Given the description of an element on the screen output the (x, y) to click on. 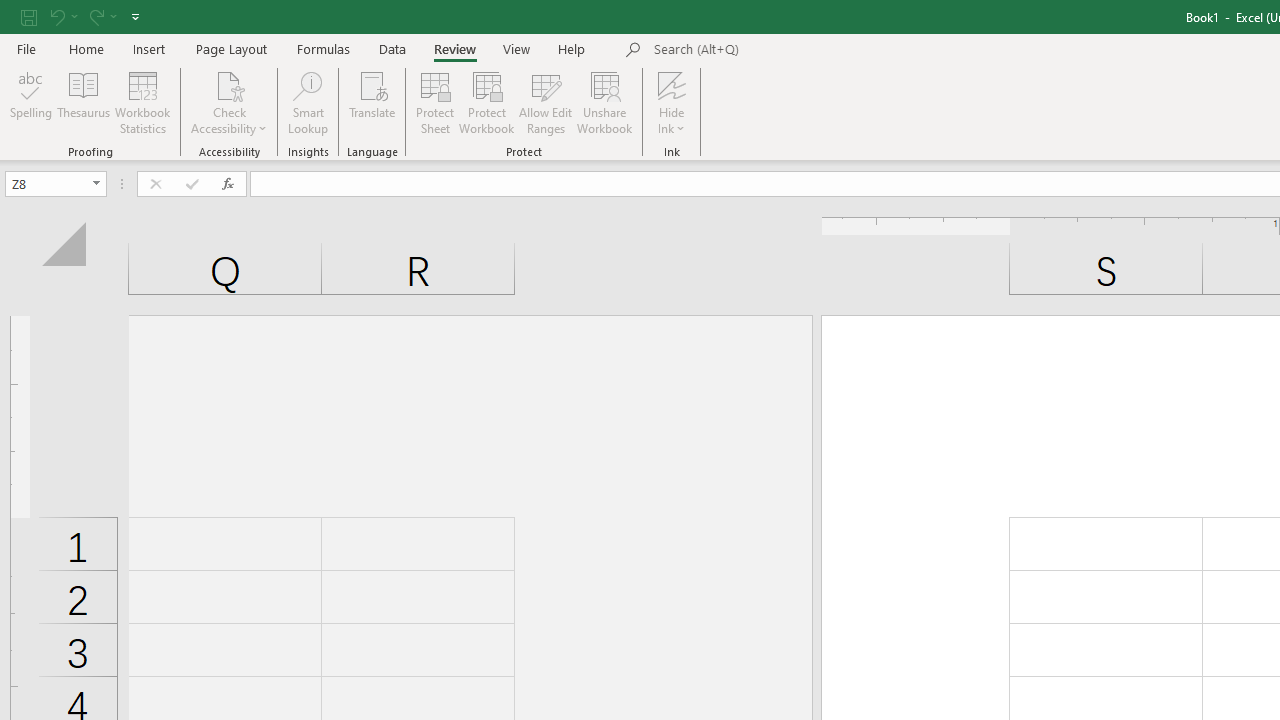
Translate (372, 102)
Unshare Workbook (604, 102)
Spelling... (31, 102)
Smart Lookup (308, 102)
Workbook Statistics (142, 102)
